Given the description of an element on the screen output the (x, y) to click on. 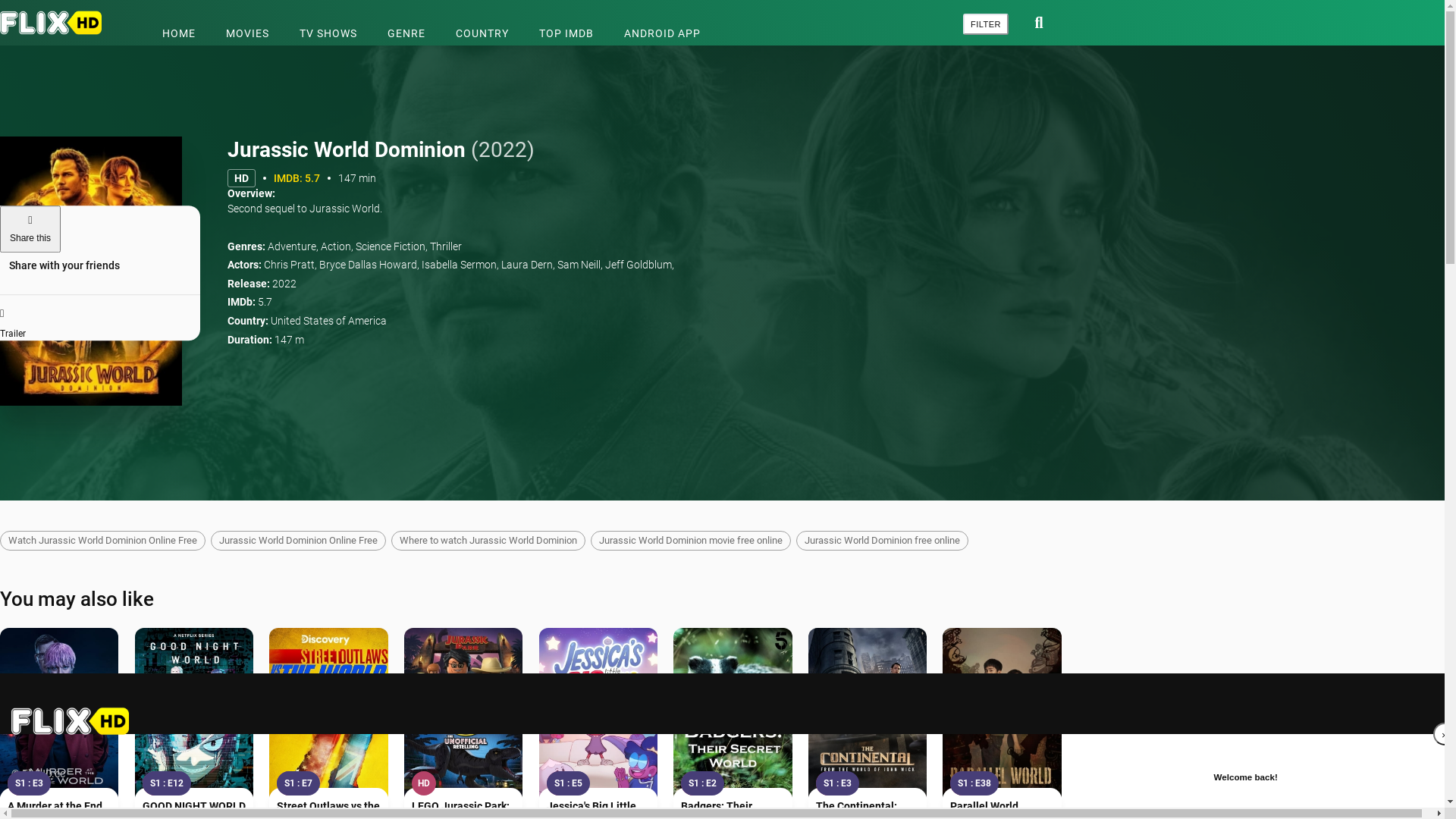
Jurassic World Dominion Element type: hover (91, 270)
GOOD NIGHT WORLD Element type: hover (193, 715)
TV SHOWS Element type: text (328, 33)
Share this Element type: text (30, 228)
Trailer Element type: text (100, 317)
The Continental: From the World of John Wick Element type: hover (867, 715)
Adventure Element type: text (291, 246)
GOOD NIGHT WORLD Element type: text (193, 806)
ANDROID APP Element type: text (661, 33)
Street Outlaws vs the World Element type: hover (328, 715)
Science Fiction Element type: text (390, 246)
FlixHD.cc Element type: hover (54, 22)
HOME Element type: text (178, 33)
TOP IMDB Element type: text (566, 33)
A Murder at the End of the World Element type: hover (59, 715)
Parallel World Element type: text (984, 806)
GENRE Element type: text (406, 33)
Badgers: Their Secret World Element type: hover (732, 715)
Jeff Goldblum Element type: text (638, 264)
Bryce Dallas Howard Element type: text (368, 264)
MOVIES Element type: text (247, 33)
Isabella Sermon Element type: text (458, 264)
Laura Dern Element type: text (526, 264)
Parallel World Element type: hover (1001, 715)
Chris Pratt Element type: text (288, 264)
COUNTRY Element type: text (482, 33)
FILTER Element type: text (985, 23)
LEGO Jurassic Park: The Unofficial Retelling Element type: hover (463, 715)
Sam Neill Element type: text (578, 264)
Jessica's Big Little World Element type: hover (598, 715)
Action Element type: text (335, 246)
Thriller Element type: text (445, 246)
United States of America Element type: text (328, 320)
